Given the description of an element on the screen output the (x, y) to click on. 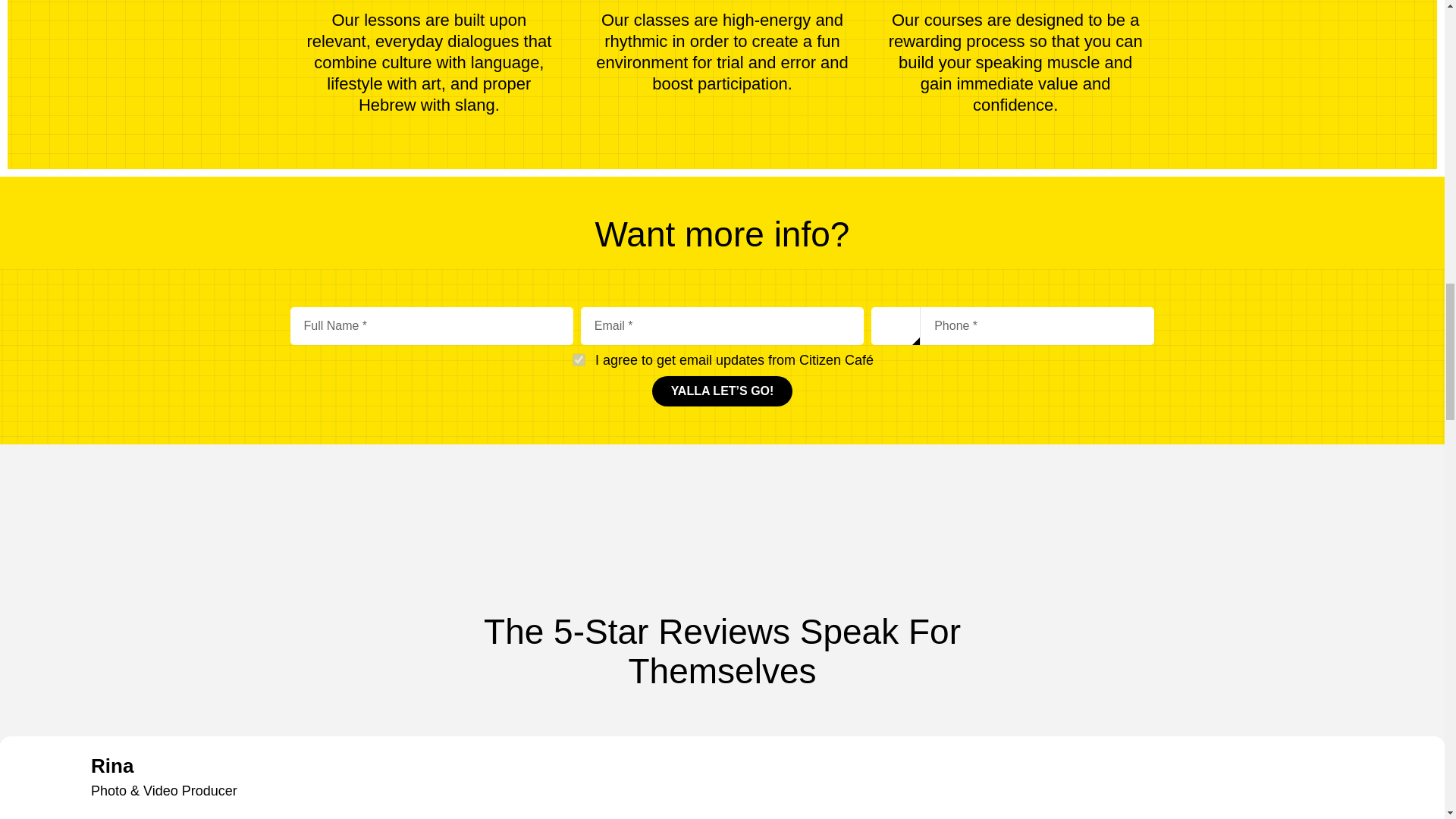
on (577, 357)
